Given the description of an element on the screen output the (x, y) to click on. 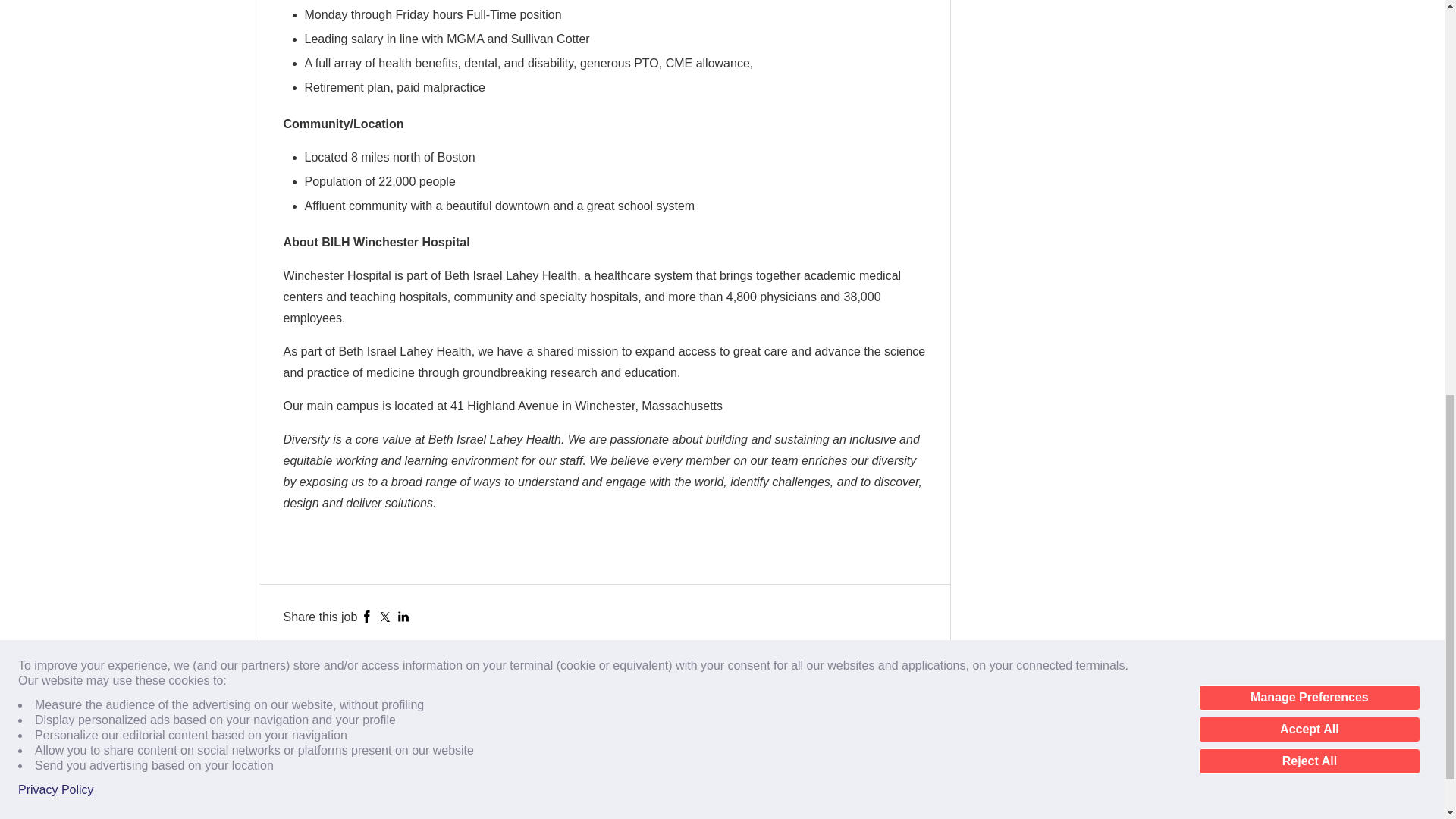
MEMBERSHIP AND SUPPORT (339, 742)
LinkedIn (403, 616)
CONTACT US (304, 720)
Twitter (384, 616)
Facebook (366, 616)
